Given the description of an element on the screen output the (x, y) to click on. 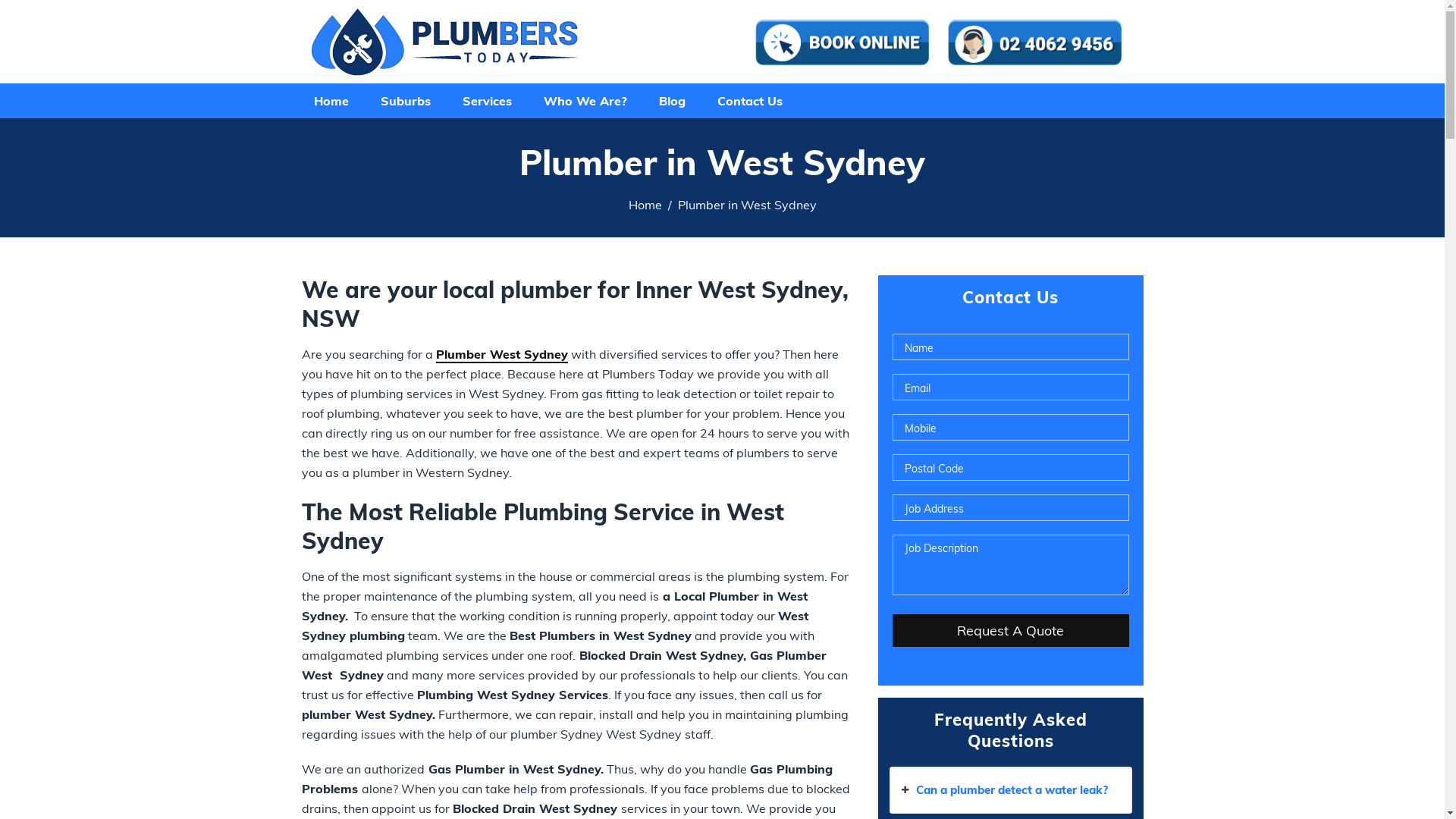
Plumber West Sydney Element type: text (501, 354)
Who We Are? Element type: text (585, 100)
Home Element type: text (644, 204)
Contact Us Element type: text (749, 100)
Blog Element type: text (671, 100)
Request A Quote Element type: text (1009, 630)
Suburbs Element type: text (404, 100)
Can a plumber detect a water leak? Element type: text (1010, 789)
Home Element type: text (330, 100)
Services Element type: text (486, 100)
